Given the description of an element on the screen output the (x, y) to click on. 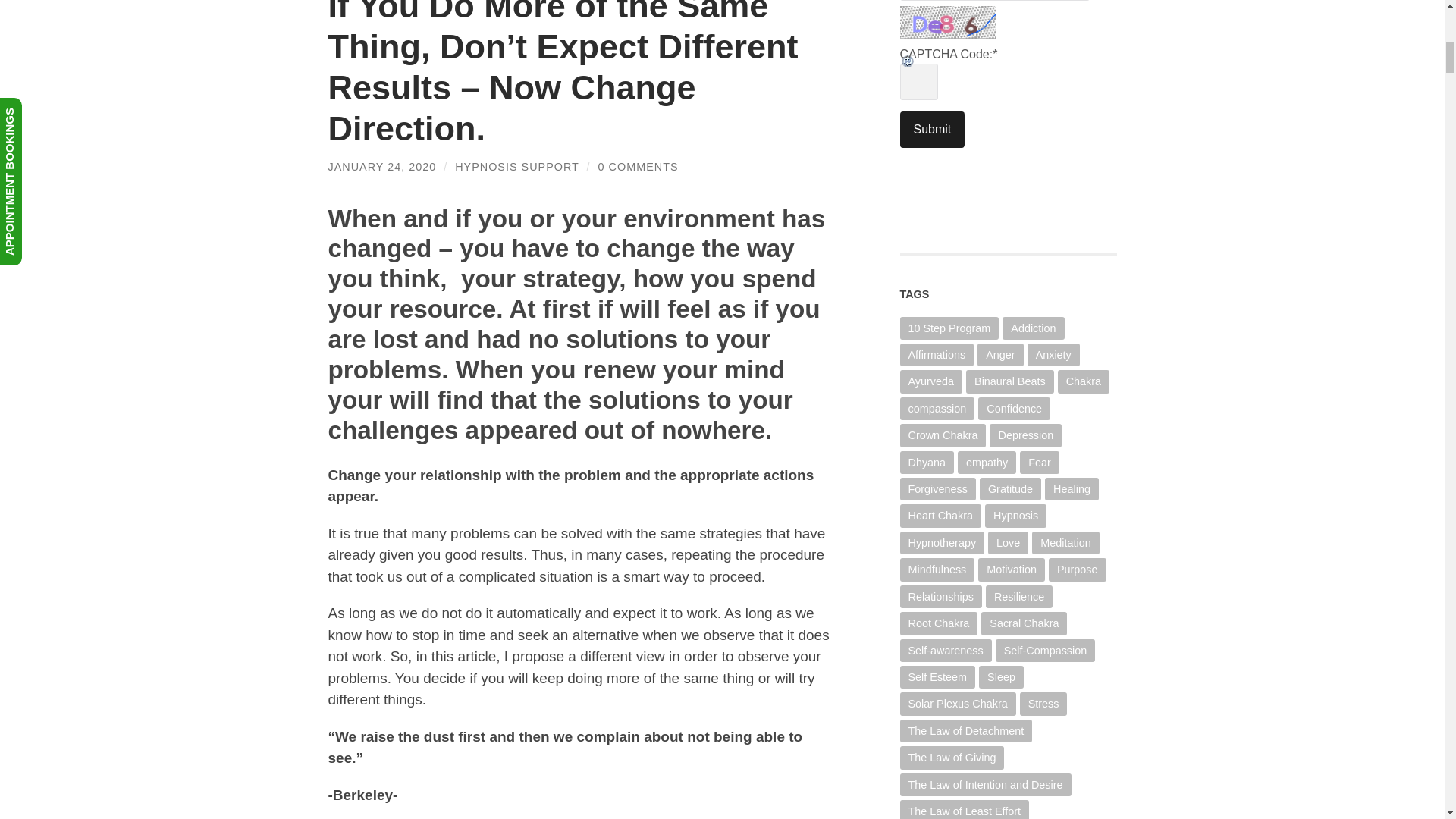
CAPTCHA (948, 21)
Submit (931, 129)
Refresh (948, 68)
Posts by Hypnosis Support (516, 166)
